Given the description of an element on the screen output the (x, y) to click on. 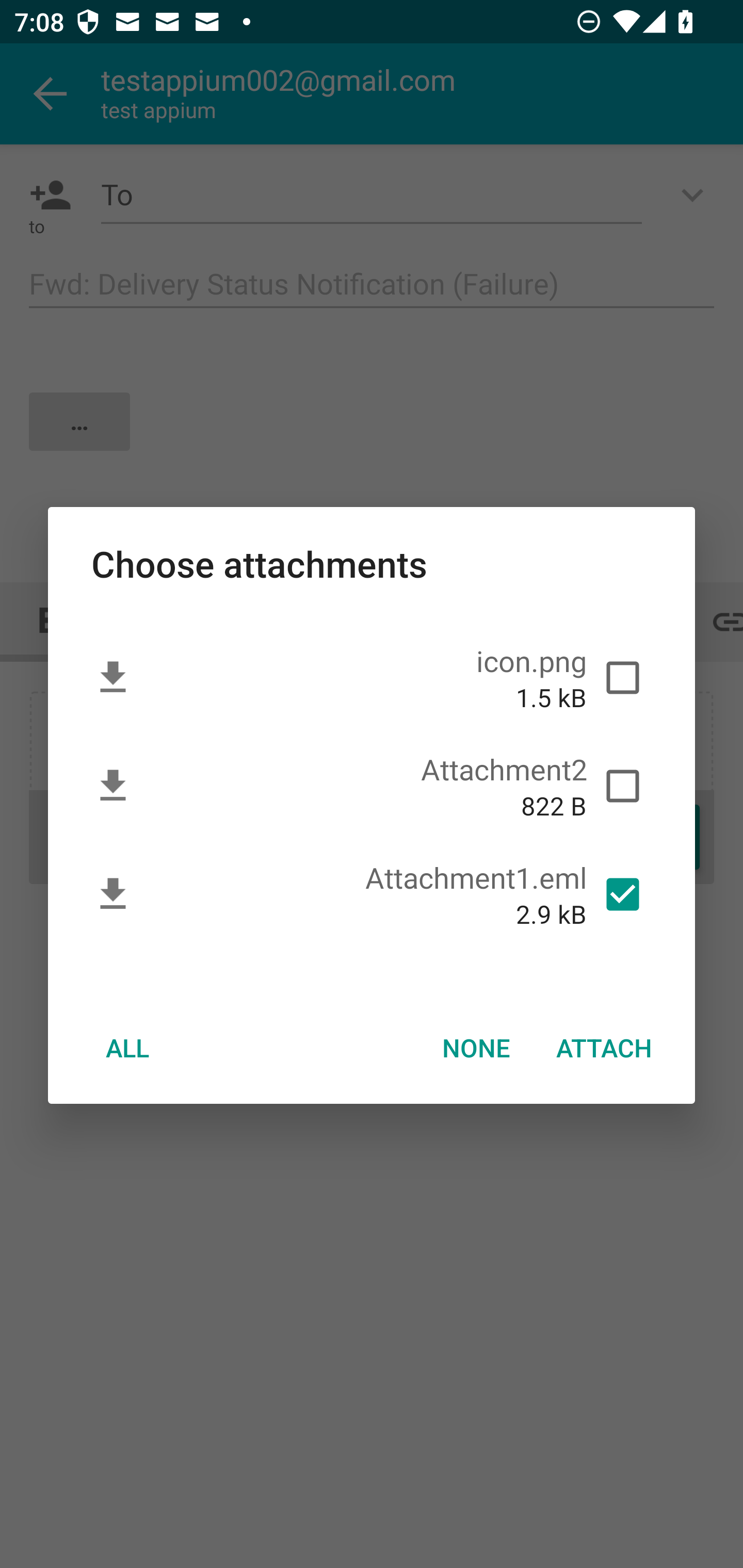
icon.png 1.5 kB (371, 678)
Attachment2 822 B (371, 786)
Attachment1.eml 2.9 kB (371, 894)
ALL (127, 1047)
NONE (476, 1047)
ATTACH (603, 1047)
